Given the description of an element on the screen output the (x, y) to click on. 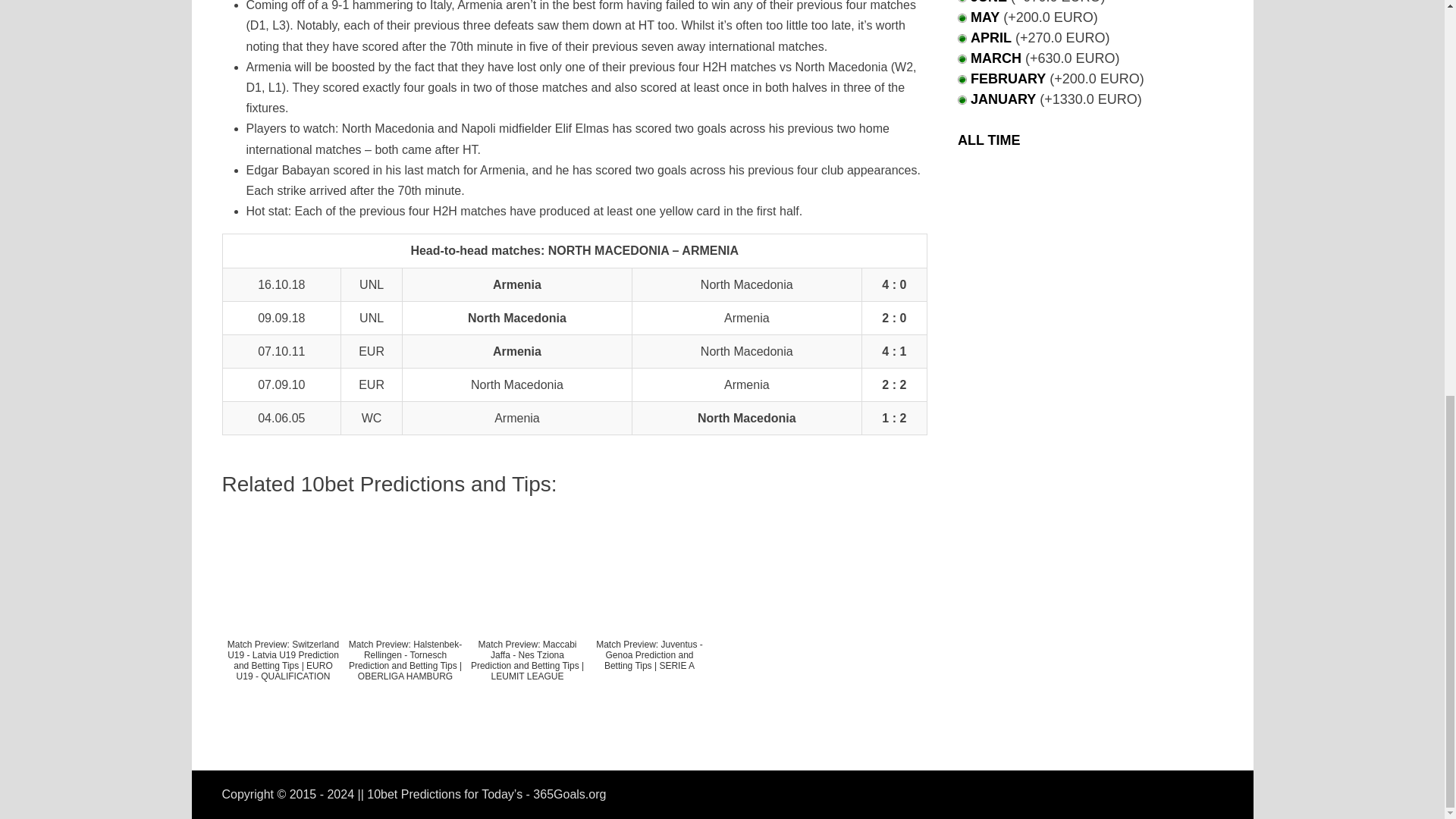
MARCH (996, 58)
ALL TIME (989, 140)
JANUARY (1003, 99)
APRIL (991, 37)
FEBRUARY (1008, 78)
MAY (984, 17)
JUNE (989, 2)
